Given the description of an element on the screen output the (x, y) to click on. 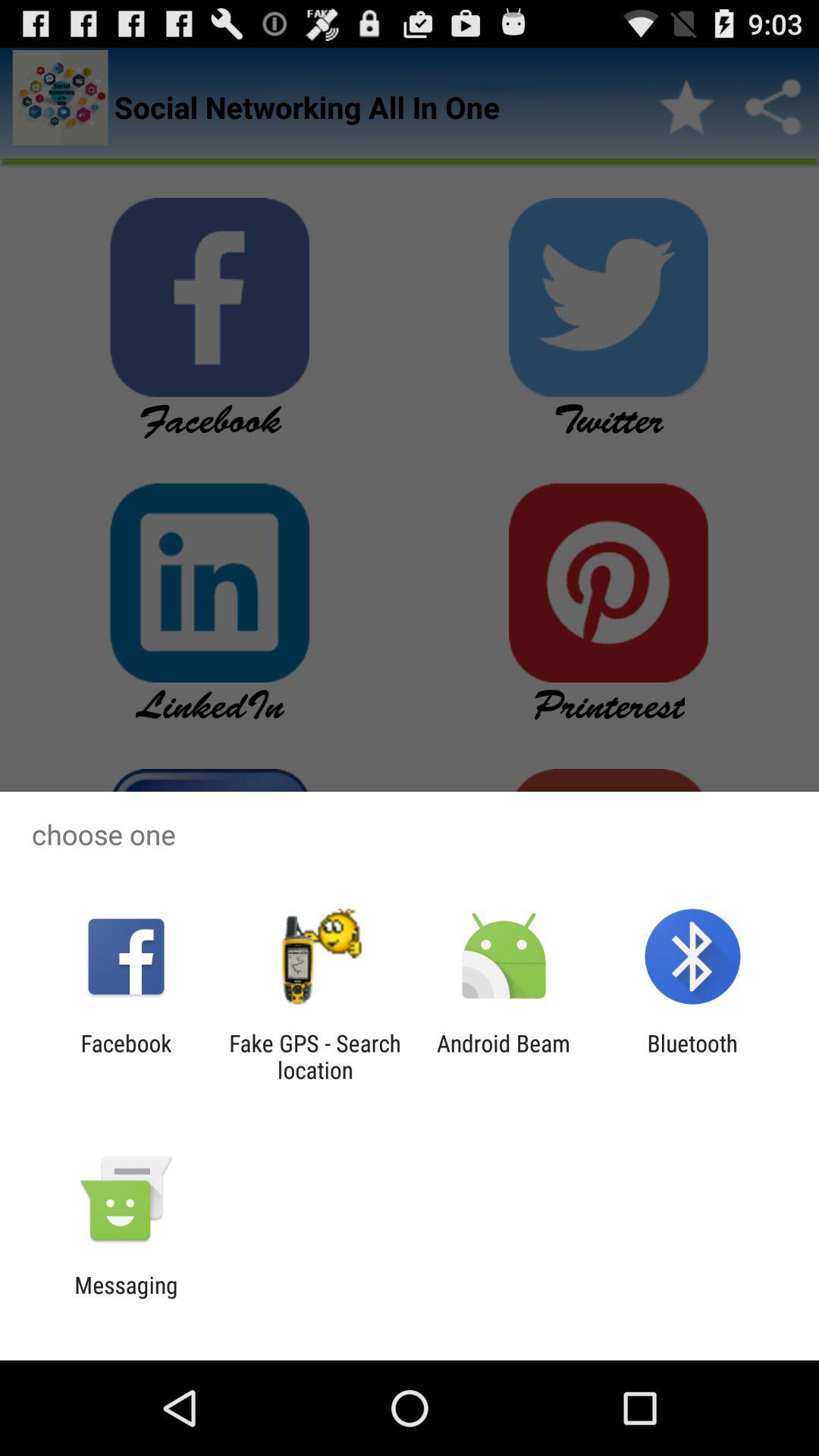
tap the item to the right of the android beam item (692, 1056)
